Given the description of an element on the screen output the (x, y) to click on. 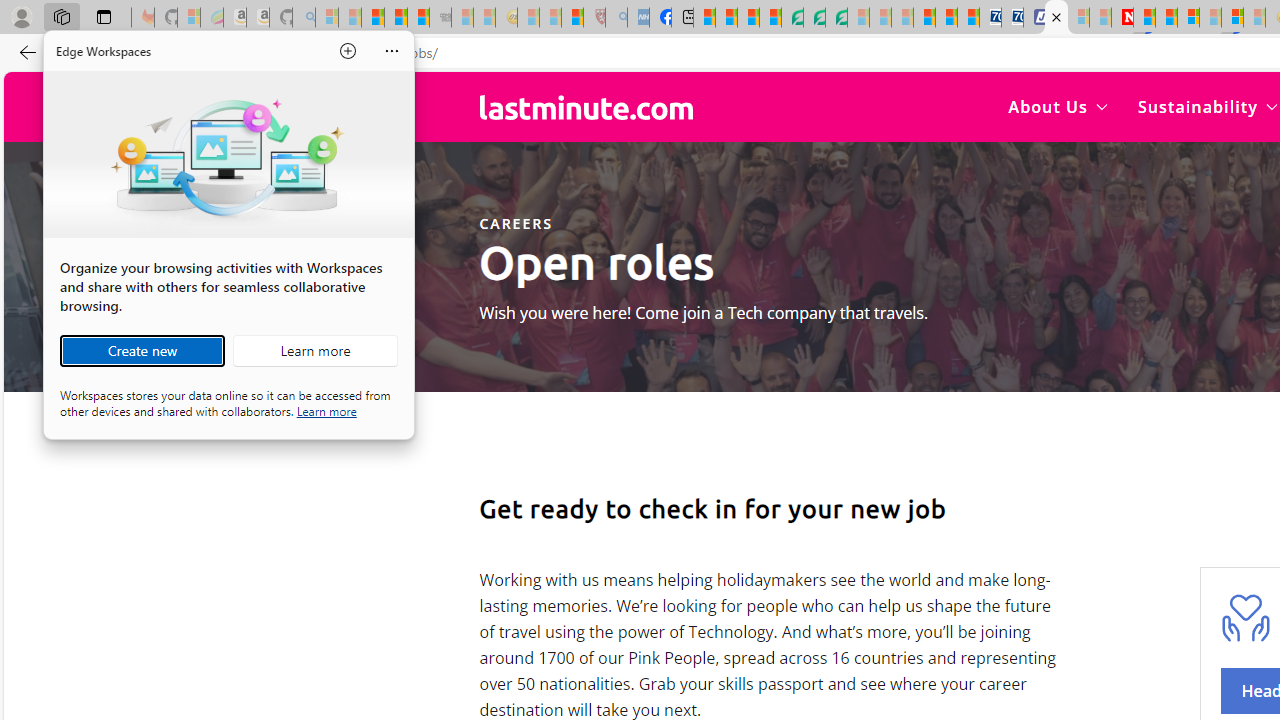
Back to home (585, 106)
LendingTree - Compare Lenders (792, 17)
Class: uk-svg (585, 107)
Sustainability (1206, 106)
Microsoft Word - consumer-privacy address update 2.2021 (836, 17)
About Us (1058, 106)
Create new workspace (142, 350)
